Given the description of an element on the screen output the (x, y) to click on. 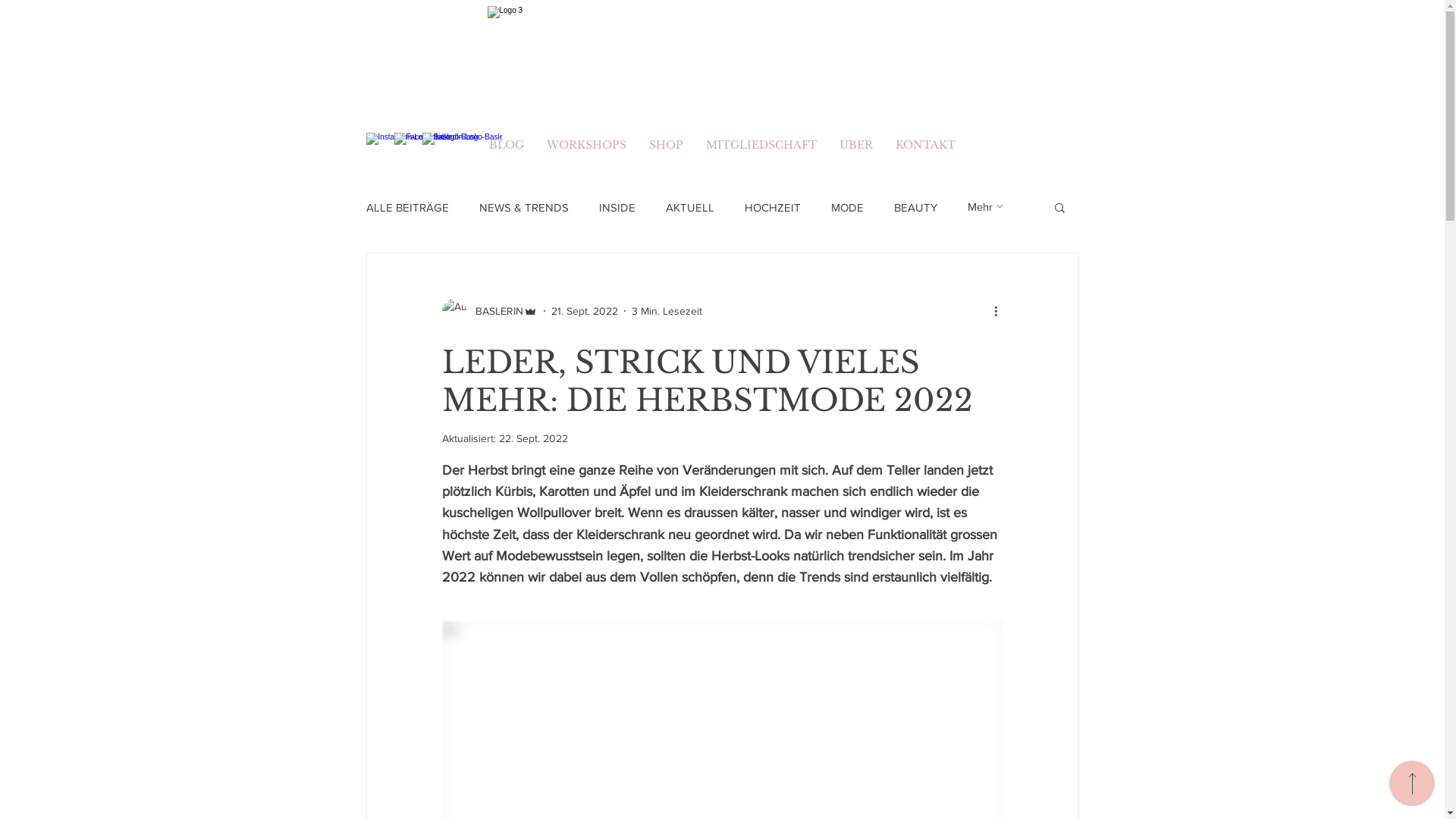
BLOG Element type: text (506, 144)
KONTAKT Element type: text (925, 144)
INSIDE Element type: text (617, 206)
Mitglied werden Element type: text (1018, 106)
SHOP Element type: text (665, 144)
BEAUTY Element type: text (914, 206)
HOCHZEIT Element type: text (772, 206)
NEWS & TRENDS Element type: text (523, 206)
MITGLIEDSCHAFT Element type: text (761, 144)
WORKSHOPS Element type: text (586, 144)
AKTUELL Element type: text (689, 206)
BASLERIN Element type: text (488, 310)
MODE Element type: text (847, 206)
